Given the description of an element on the screen output the (x, y) to click on. 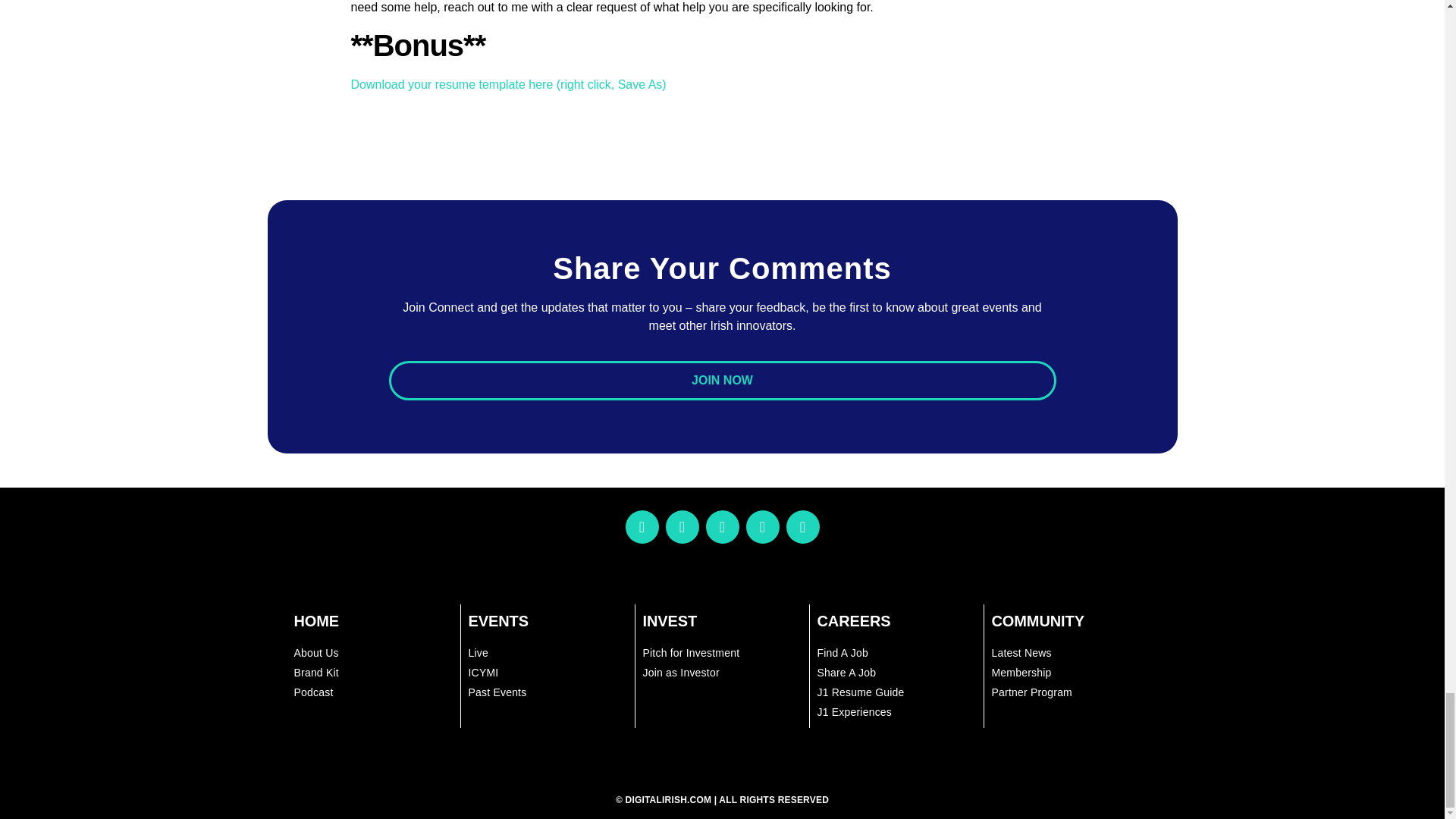
JOIN NOW (721, 380)
